Given the description of an element on the screen output the (x, y) to click on. 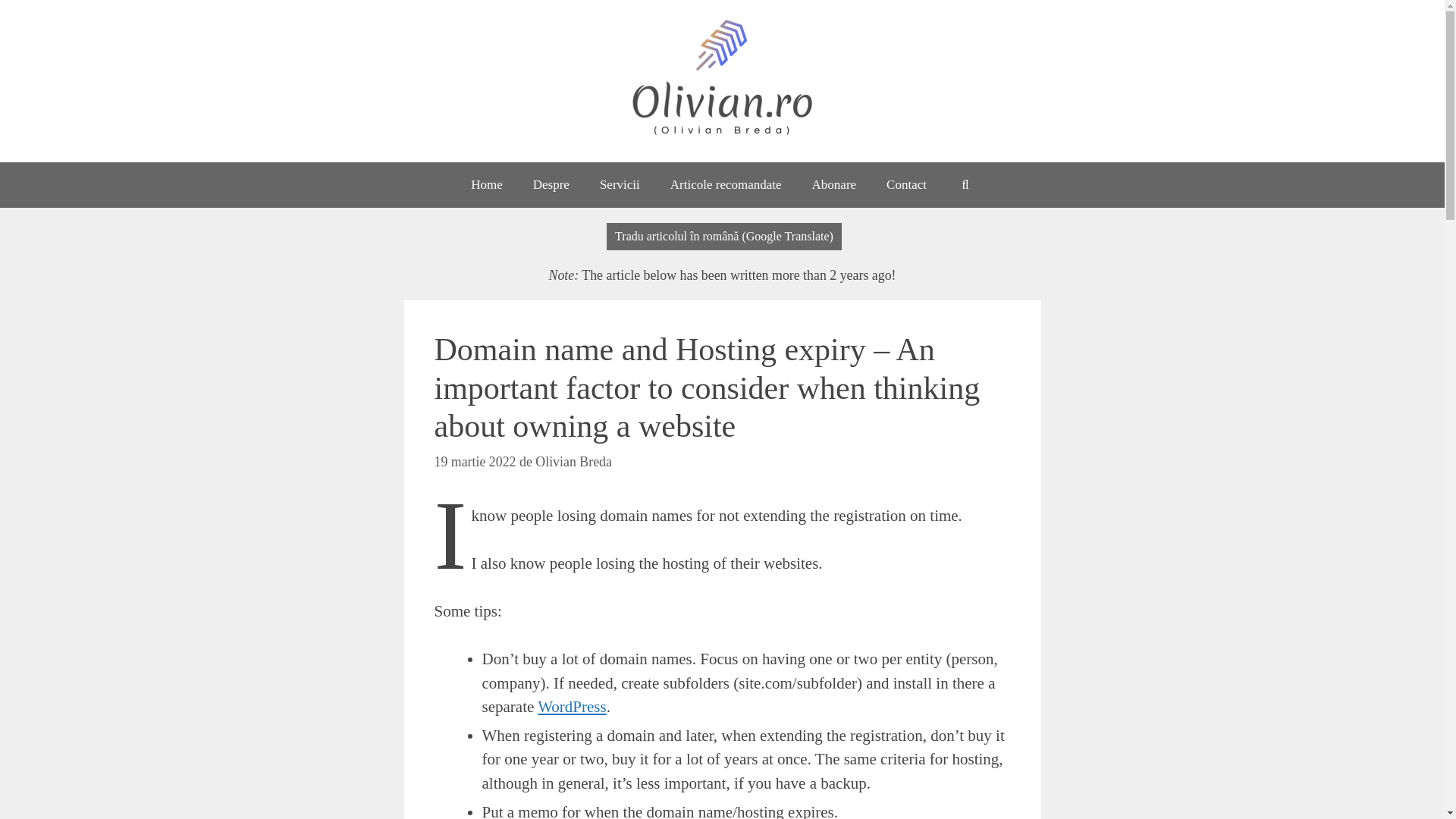
Abonare (834, 185)
Vezi toate articolele lui Olivian Breda (573, 461)
Olivian Breda (573, 461)
Servicii (620, 185)
Despre (551, 185)
Contact (906, 185)
Articole recomandate (725, 185)
WordPress (571, 706)
Home (486, 185)
